Given the description of an element on the screen output the (x, y) to click on. 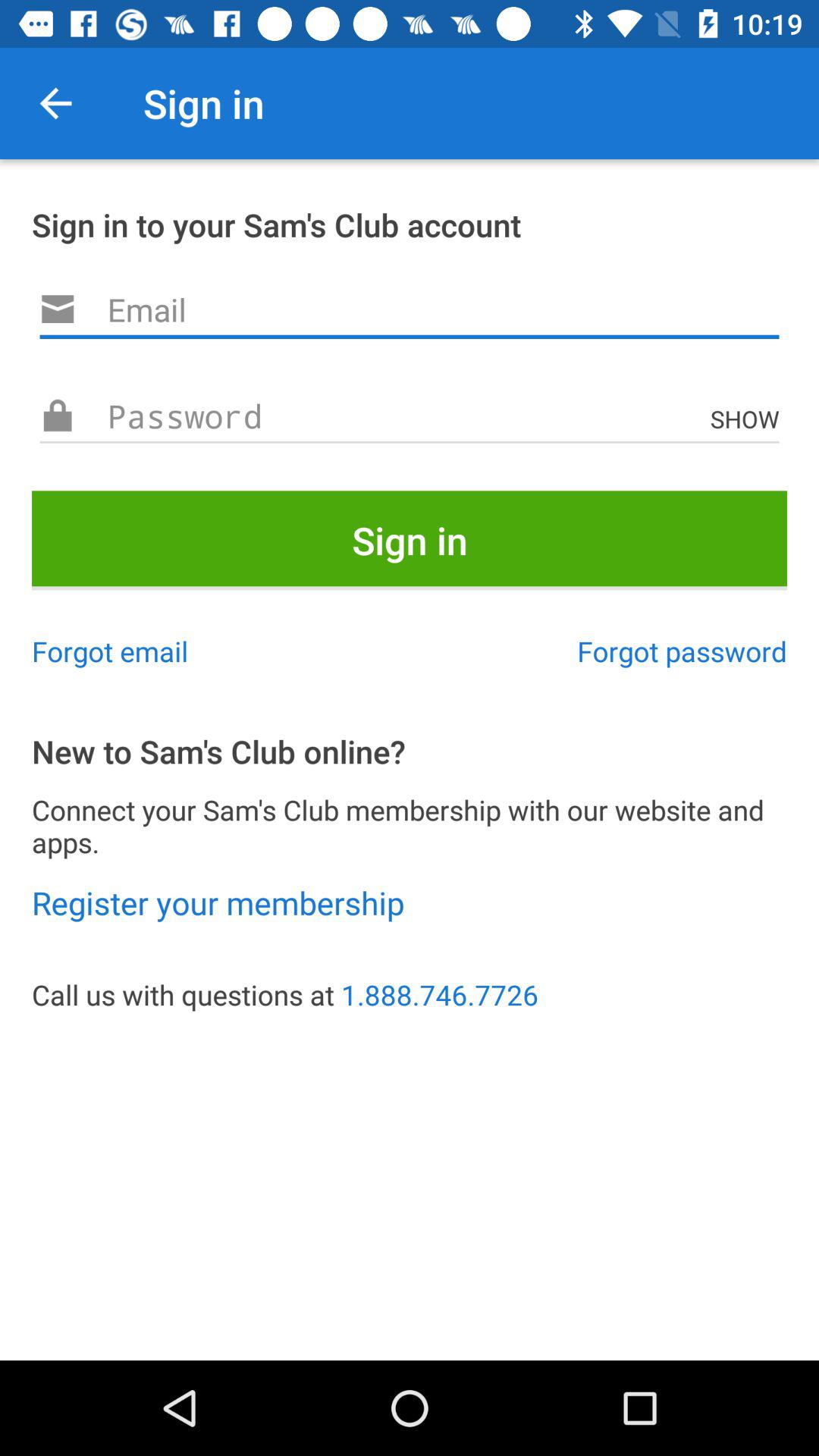
press show item (748, 418)
